Given the description of an element on the screen output the (x, y) to click on. 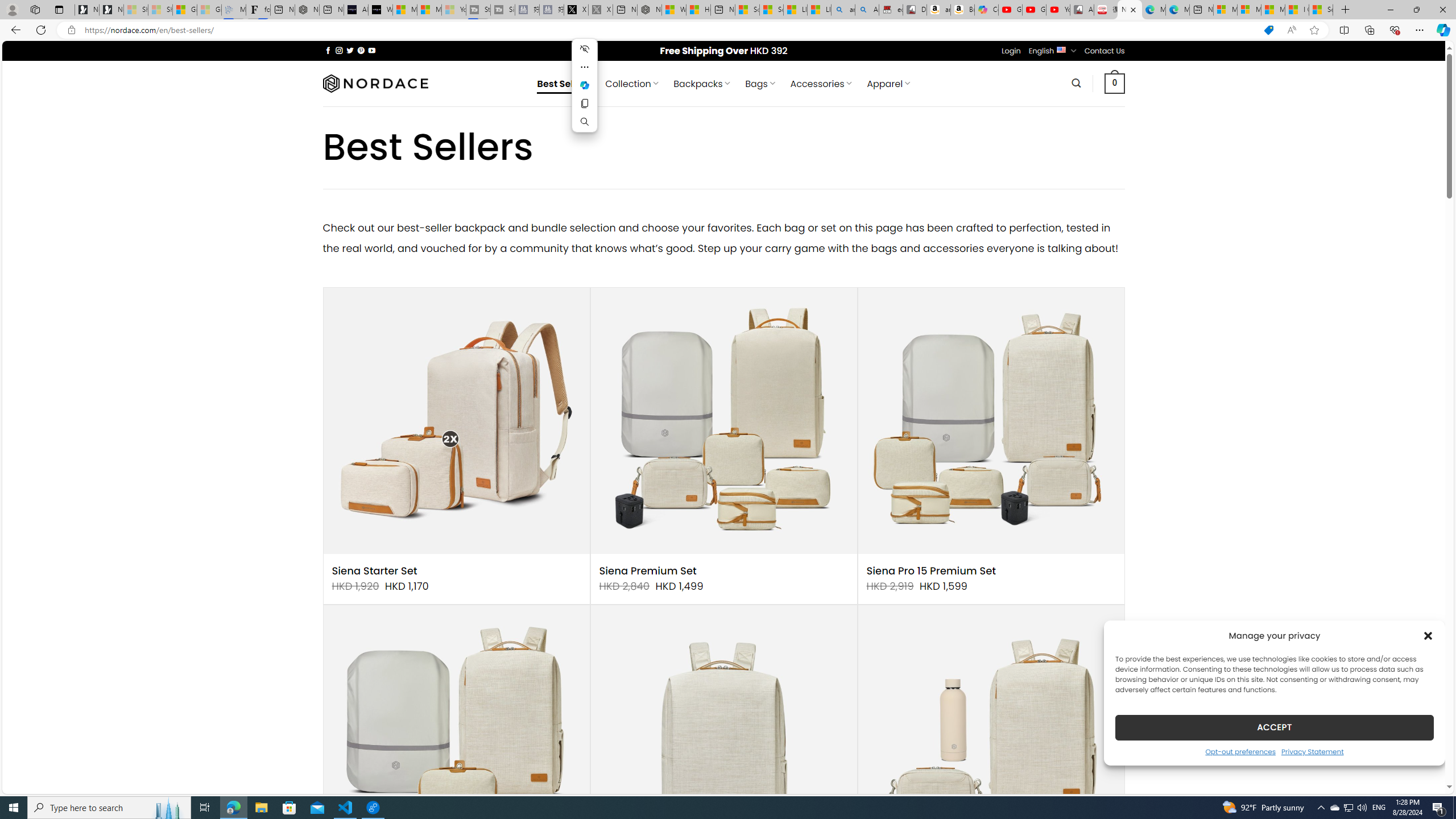
Login (1010, 50)
Follow on Instagram (338, 49)
amazon - Search (843, 9)
Gloom - YouTube (1034, 9)
Follow on Facebook (327, 49)
  0   (1115, 83)
